Given the description of an element on the screen output the (x, y) to click on. 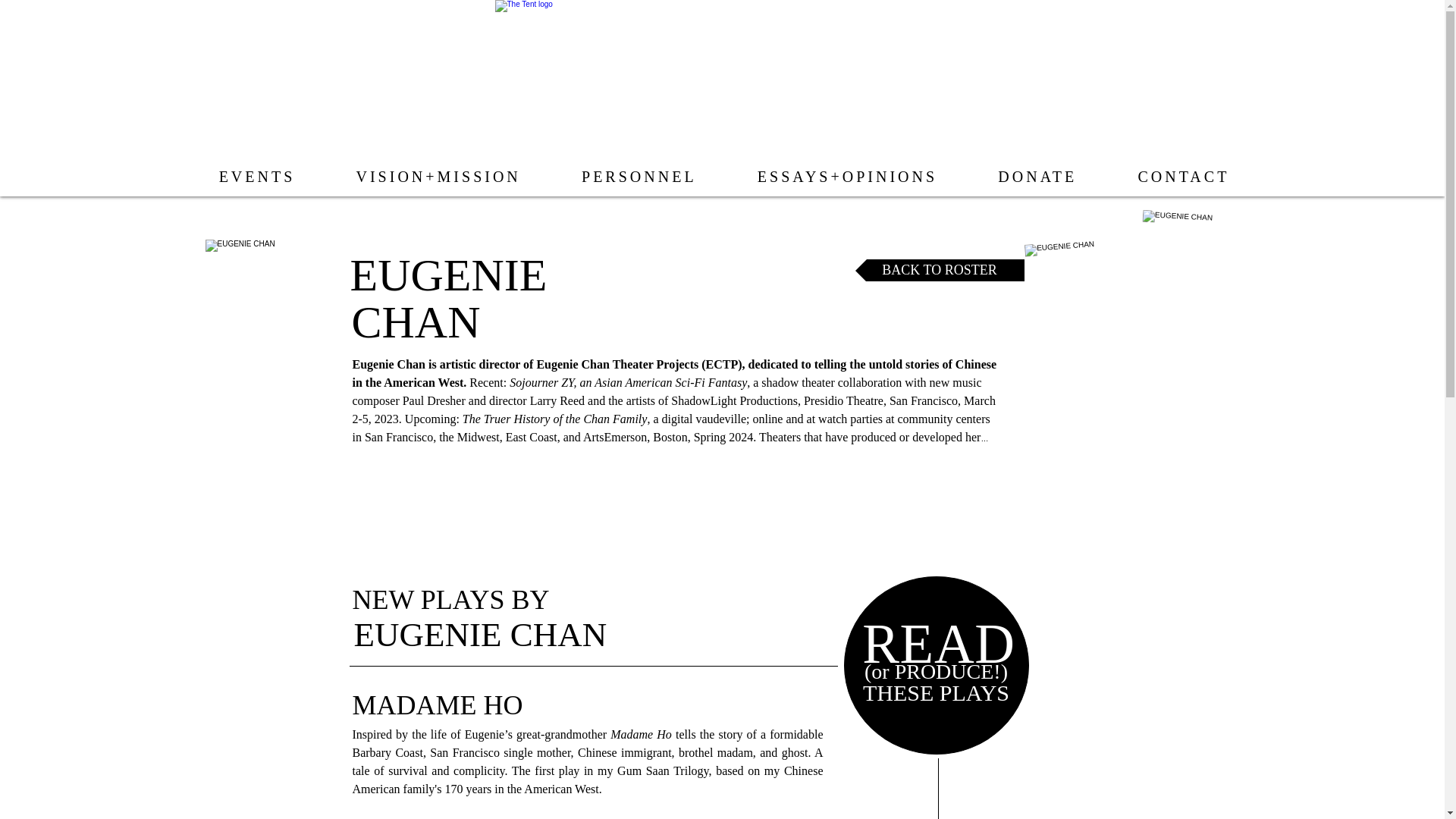
BACK TO ROSTER (940, 270)
DONATE (1037, 176)
CONTACT (1182, 176)
PERSONNEL (639, 176)
